Given the description of an element on the screen output the (x, y) to click on. 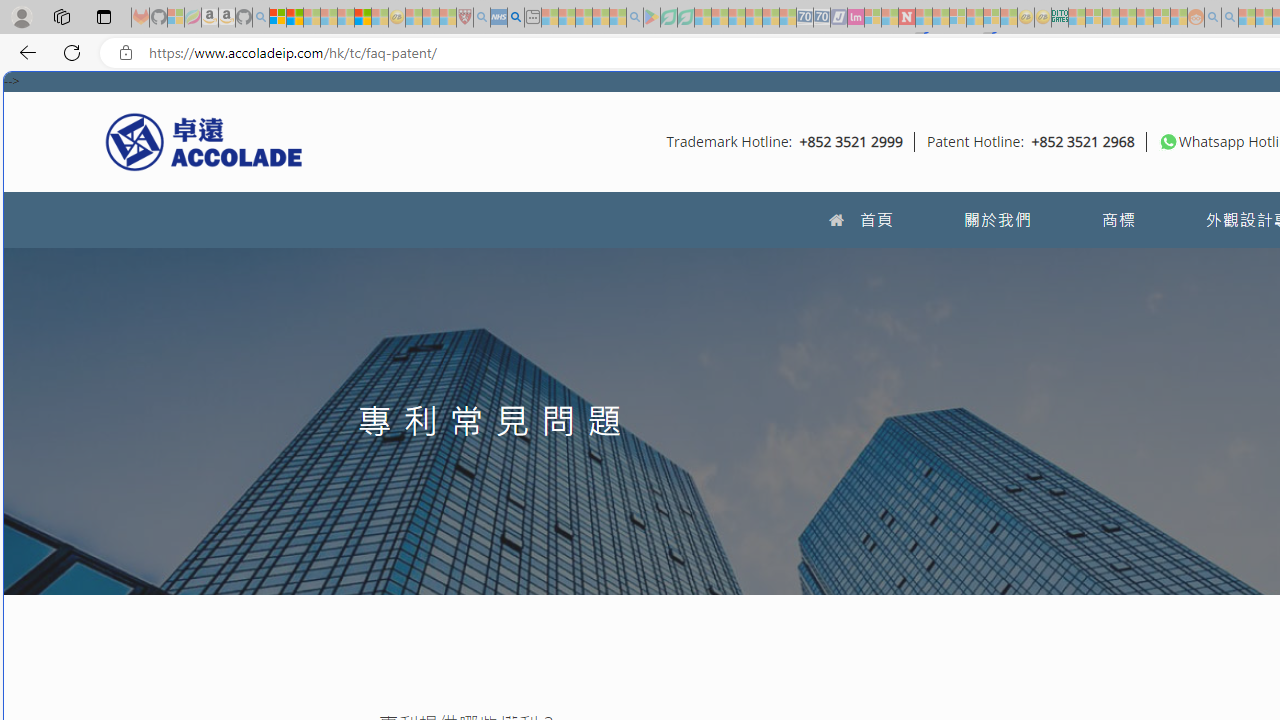
utah sues federal government - Search (515, 17)
Workspaces (61, 16)
Latest Politics News & Archive | Newsweek.com - Sleeping (906, 17)
Microsoft Start (362, 17)
View site information (125, 53)
Cheap Hotels - Save70.com - Sleeping (821, 17)
Accolade IP HK Logo (203, 141)
google - Search - Sleeping (634, 17)
